Given the description of an element on the screen output the (x, y) to click on. 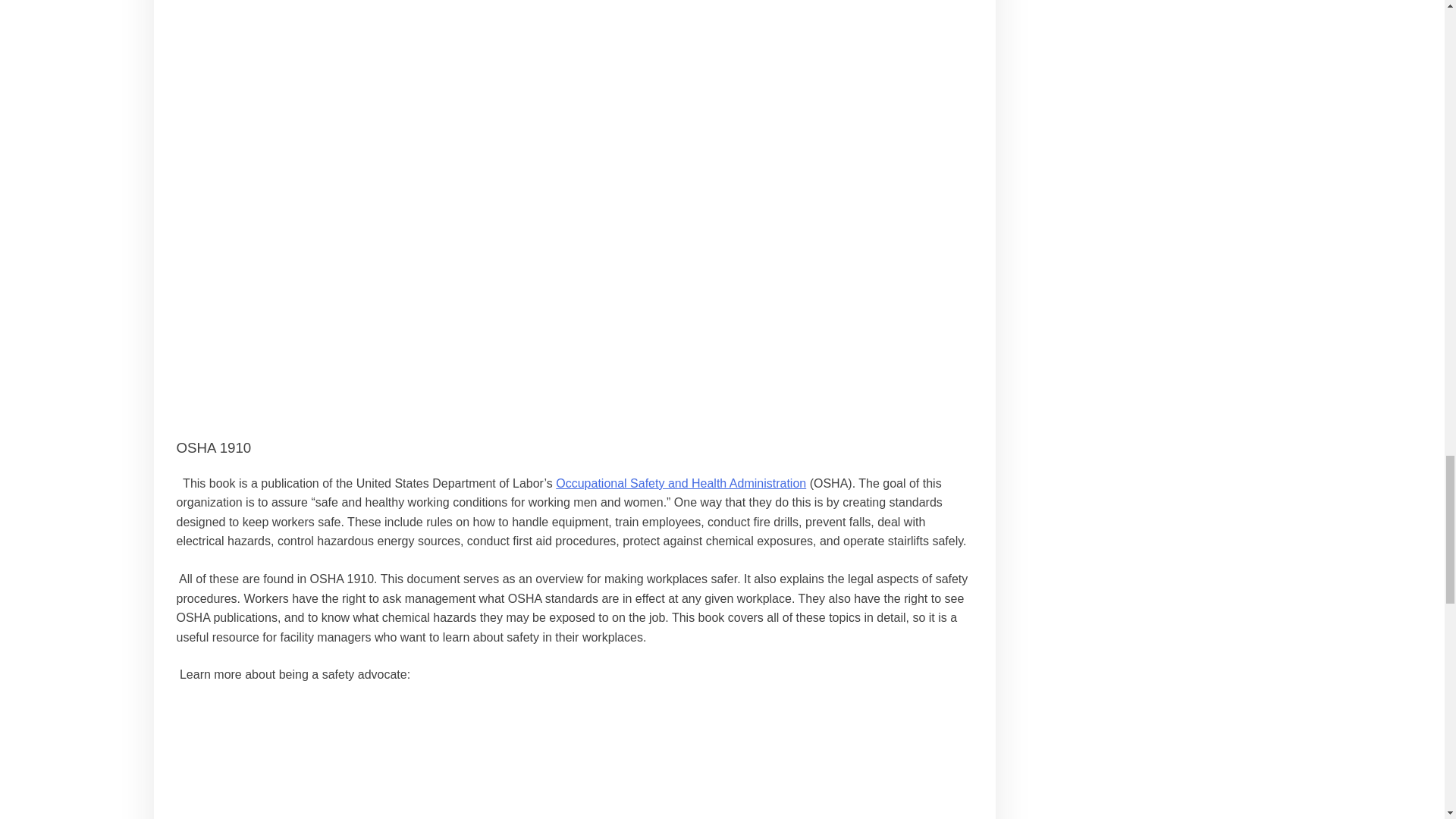
YouTube video player (574, 779)
Occupational Safety and Health Administration (681, 482)
